Given the description of an element on the screen output the (x, y) to click on. 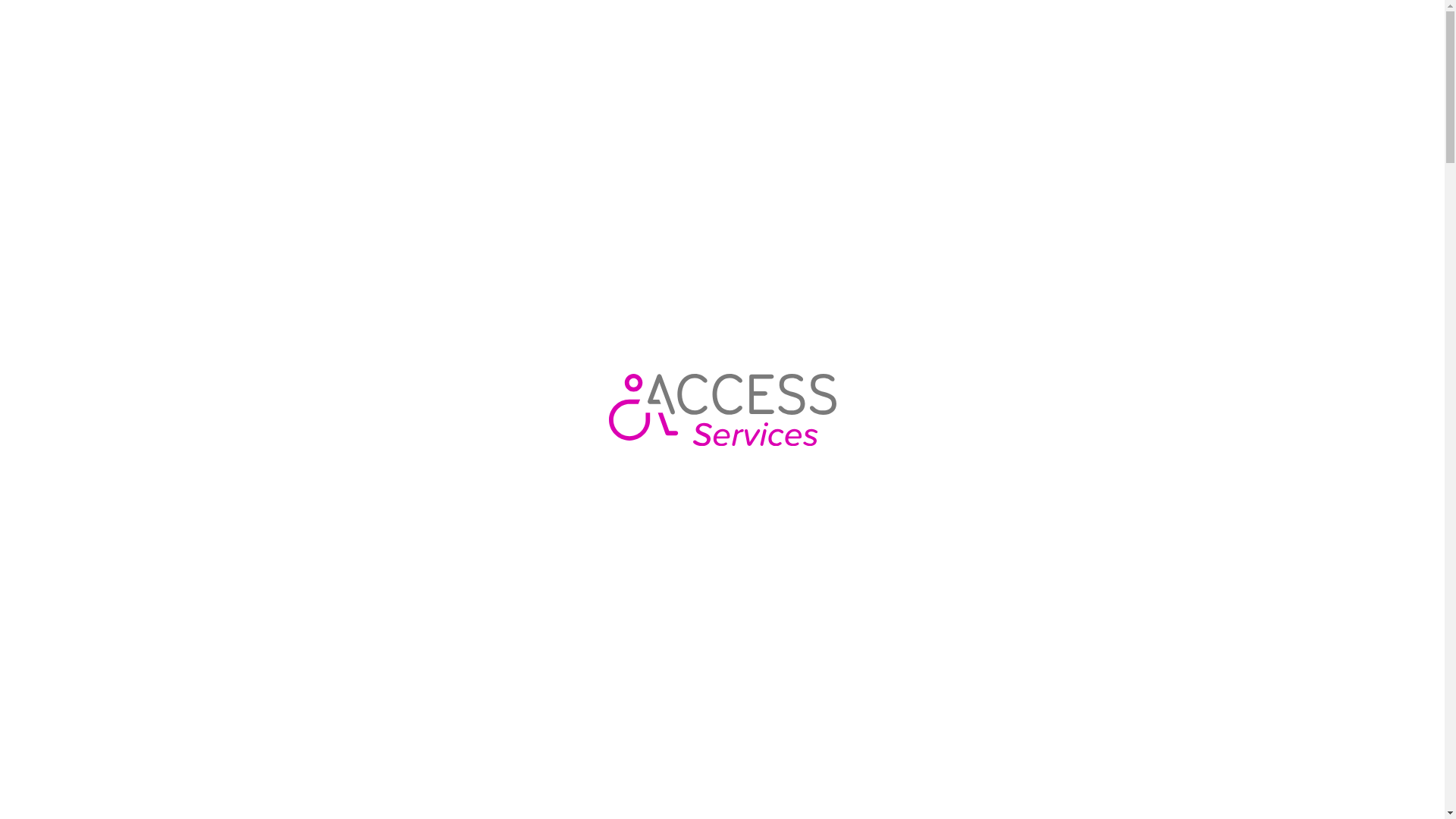
SE CONNECTER Element type: text (1354, 35)
VOIR SITE WEB Element type: text (1073, 431)
Chemin du Malgras, 4
1400 Nivelles Element type: text (1073, 316)
A PROPOS Element type: text (614, 35)
DOCUMENTATIONS - OUTILS Element type: text (430, 35)
ACCESS-SERVICES Element type: text (94, 35)
SERVICES Element type: text (214, 35)
+32 (0) 67 63 48 60 Element type: text (1327, 308)
AGENDA Element type: text (545, 35)
Partager Element type: text (1333, 431)
CONTACT Element type: text (685, 35)
epm@brabantwallon.be Element type: text (1327, 324)
